Given the description of an element on the screen output the (x, y) to click on. 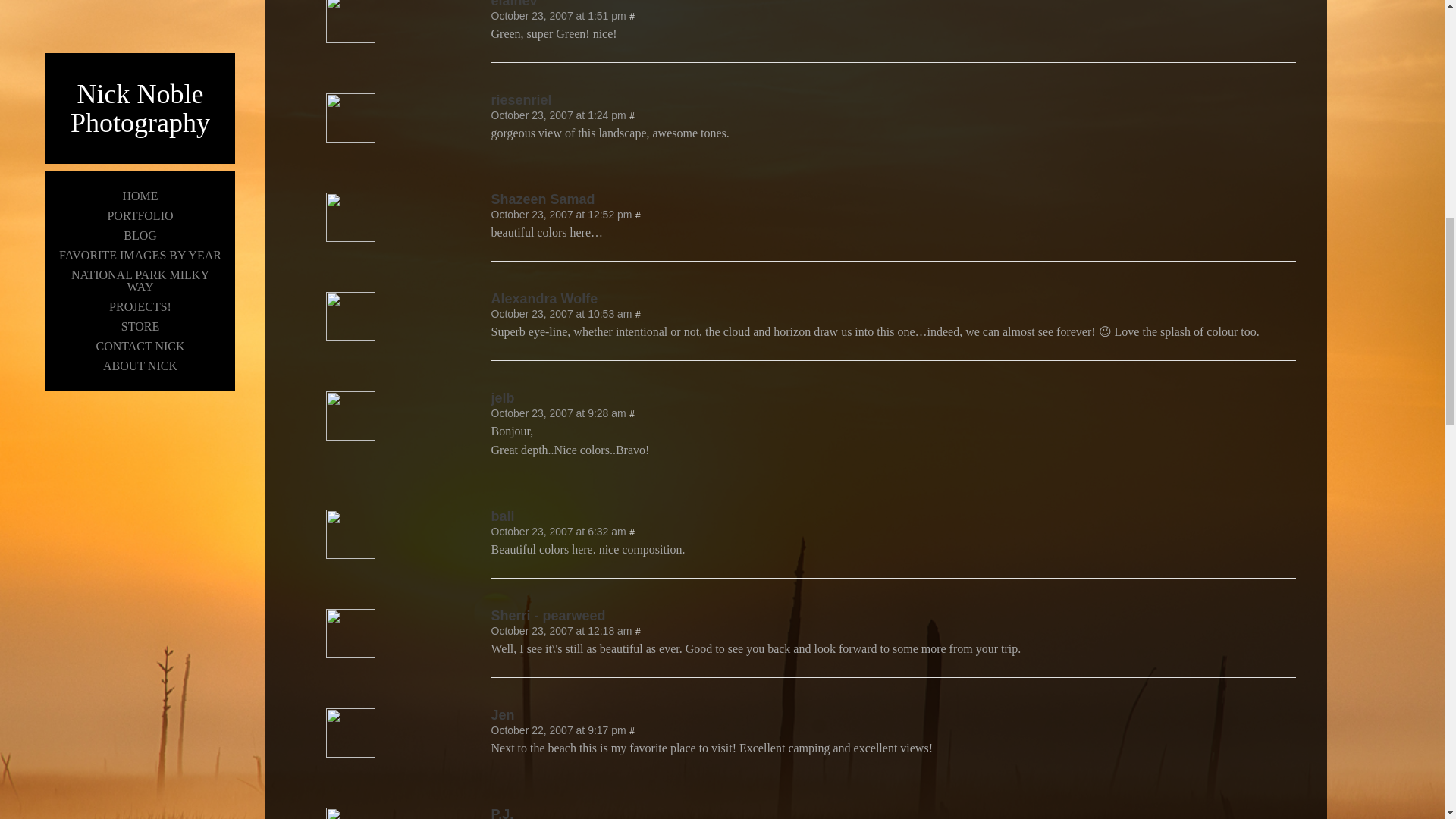
Comment Author (350, 137)
riesenriel (894, 100)
Shazeen Samad (894, 199)
Comment Author (350, 38)
Comment Author (350, 237)
Alexandra Wolfe (894, 298)
jelb (894, 397)
Comment Author (894, 100)
